Given the description of an element on the screen output the (x, y) to click on. 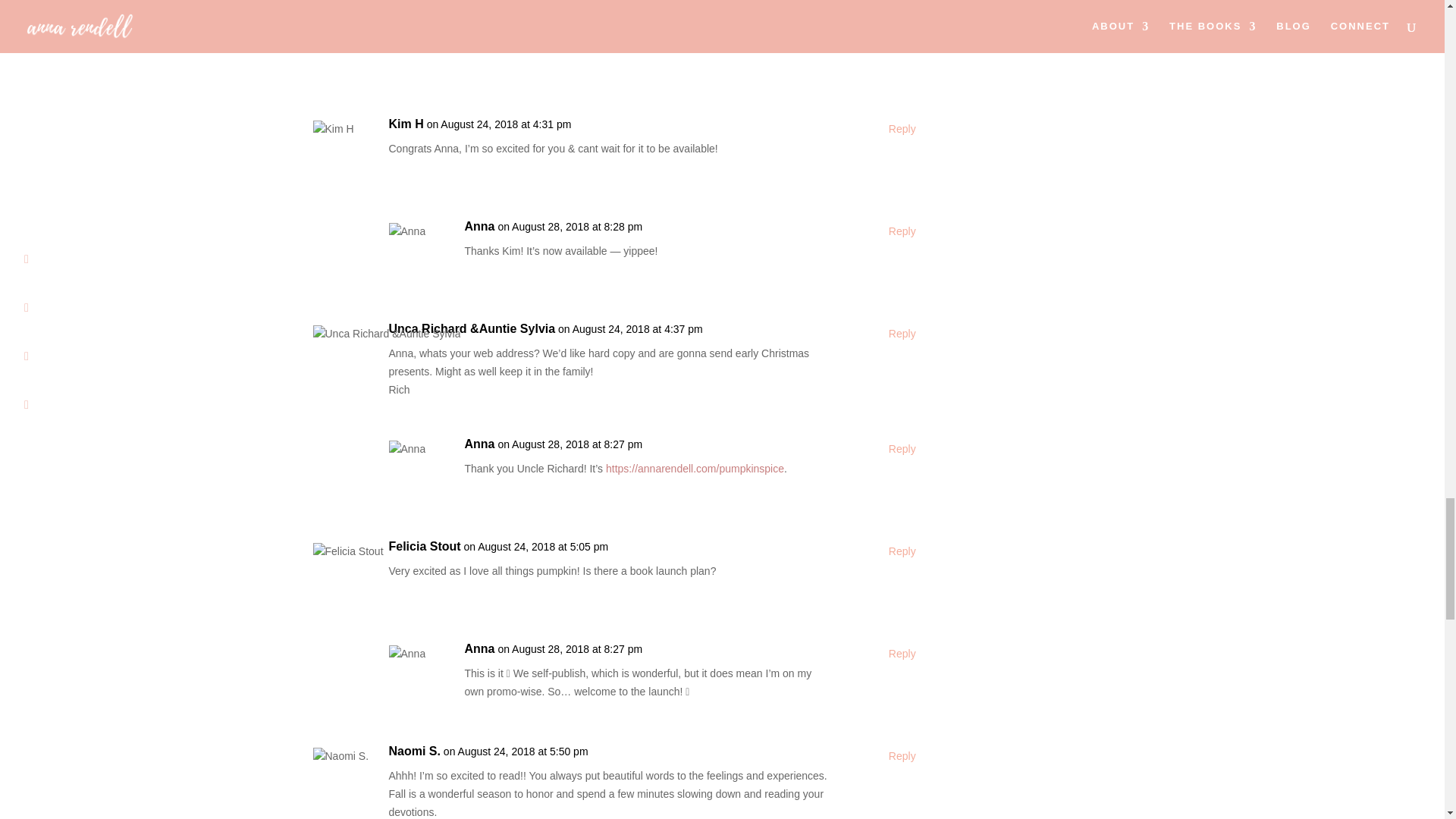
Reply (901, 756)
Reply (901, 231)
Anna Rendell (502, 22)
Reply (901, 334)
Reply (901, 654)
Reply (901, 129)
Felicia Stout (424, 546)
Reply (901, 27)
Reply (901, 449)
Reply (901, 551)
